Given the description of an element on the screen output the (x, y) to click on. 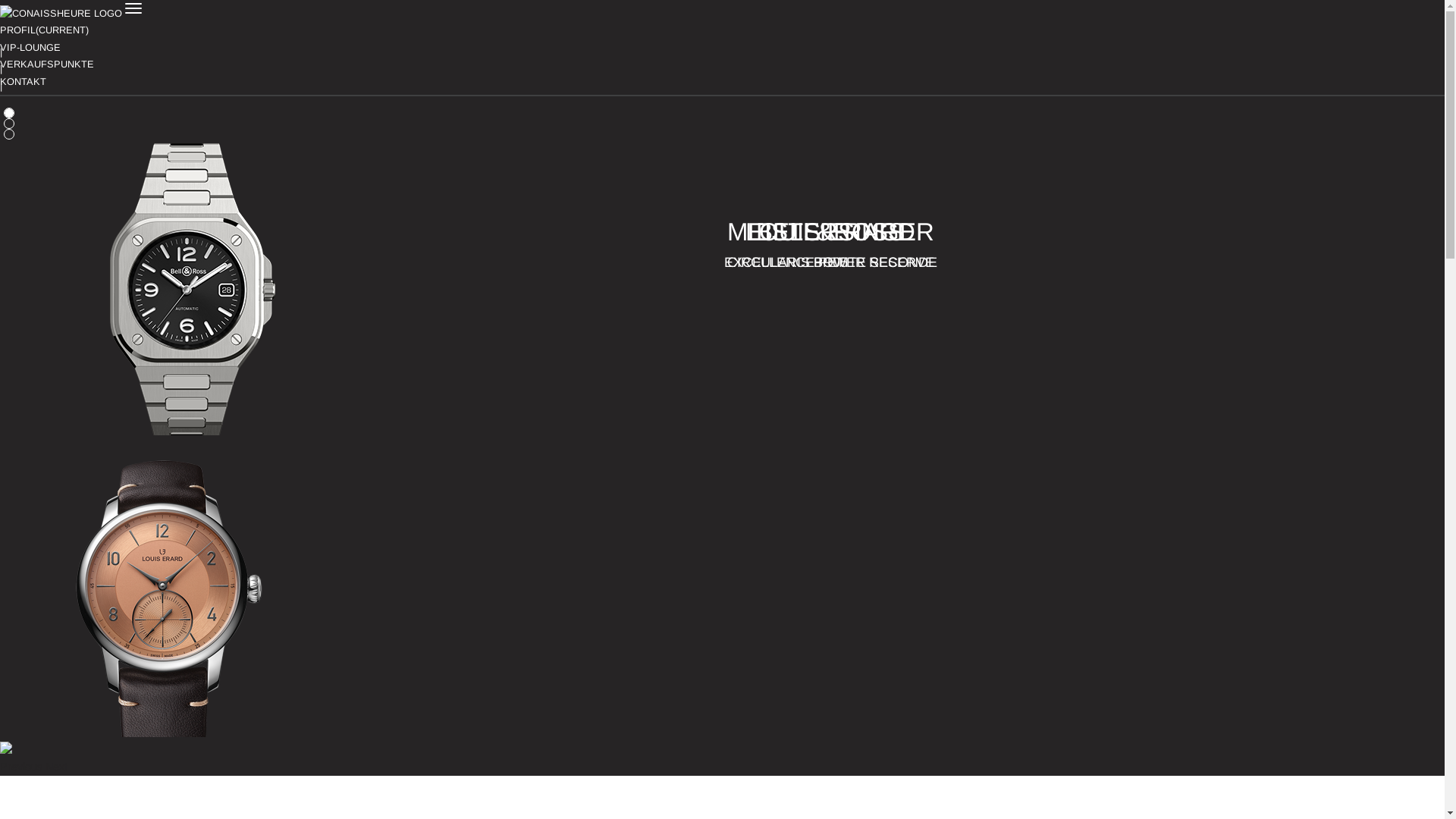
VIP-LOUNGE Element type: text (722, 47)
Previous Element type: text (22, 766)
VERKAUFSPUNKTE Element type: text (722, 64)
PROFIL(CURRENT) Element type: text (722, 30)
KONTAKT Element type: text (722, 82)
Next Element type: text (56, 766)
